Given the description of an element on the screen output the (x, y) to click on. 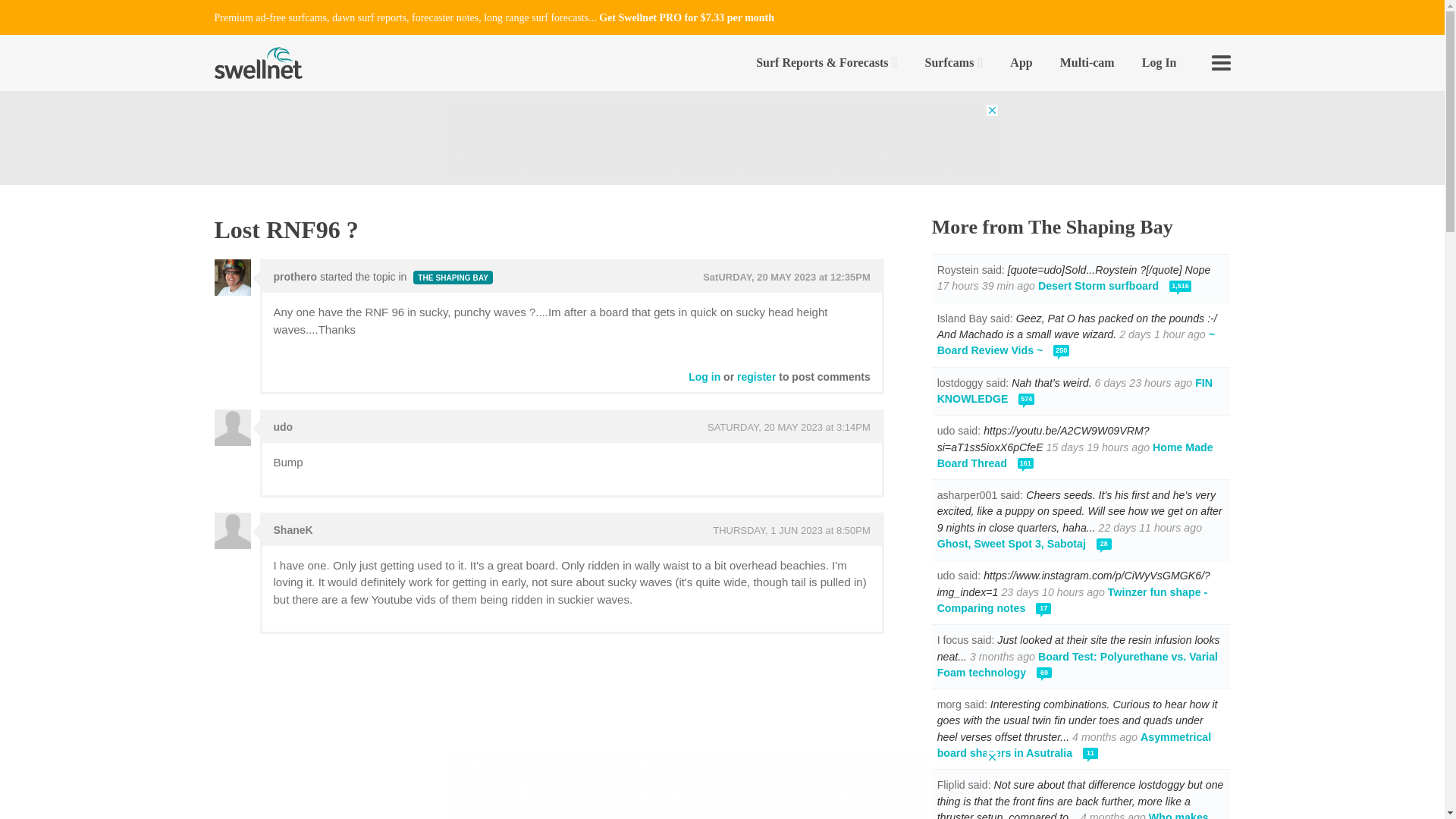
Swellnet (257, 62)
